Given the description of an element on the screen output the (x, y) to click on. 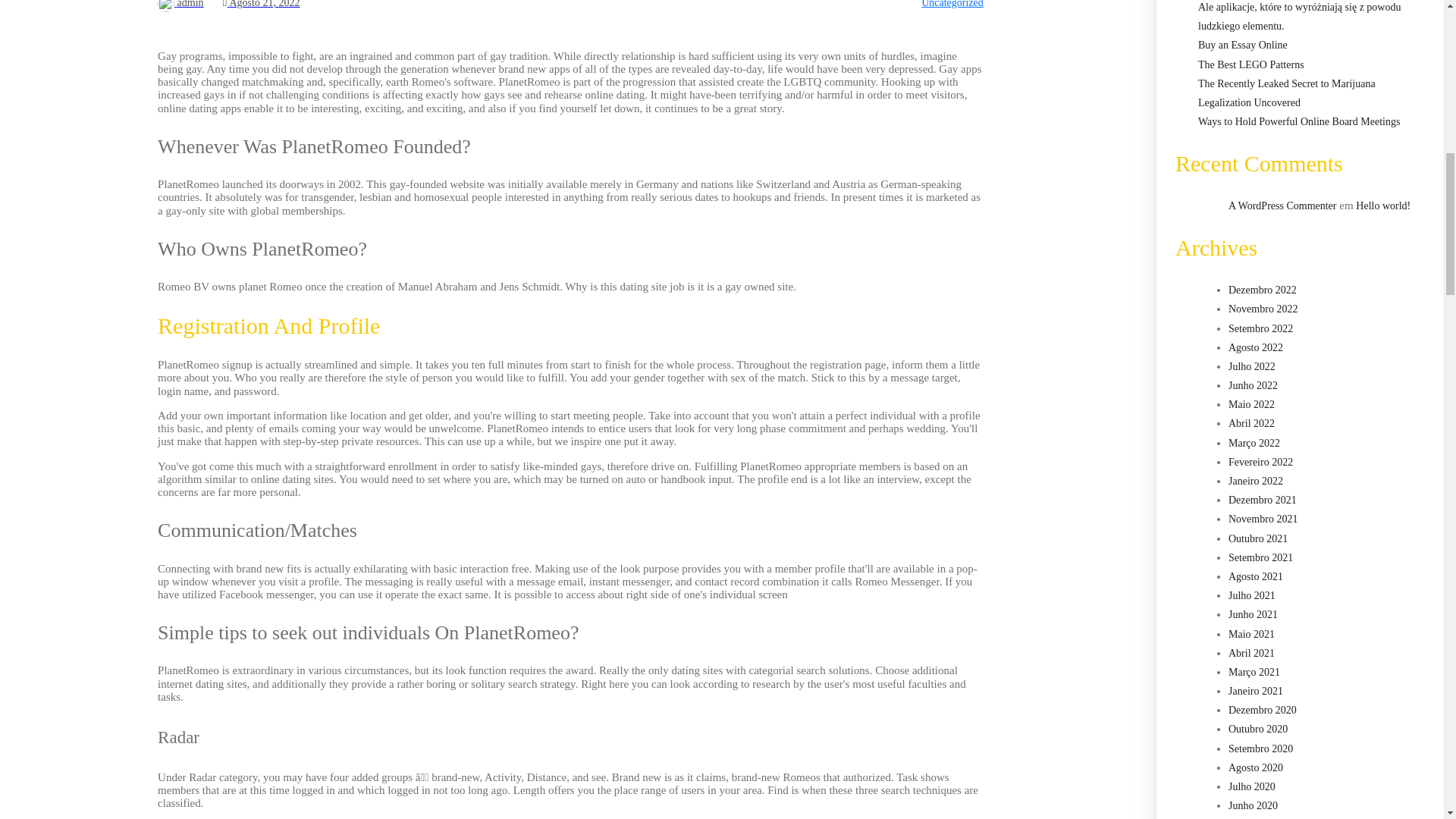
The Best LEGO Patterns (1251, 64)
Buy an Essay Online (1242, 44)
Setembro 2022 (1260, 328)
Janeiro 2021 (1255, 690)
Janeiro 2022 (1255, 480)
Uncategorized (952, 4)
Dezembro 2020 (1262, 709)
Maio 2022 (1251, 404)
Abril 2022 (1251, 423)
Dezembro 2022 (1262, 289)
Agosto 2021 (1255, 576)
Novembro 2022 (1262, 308)
Novembro 2021 (1262, 518)
Hello world! (1382, 205)
Agosto 2022 (1255, 347)
